Given the description of an element on the screen output the (x, y) to click on. 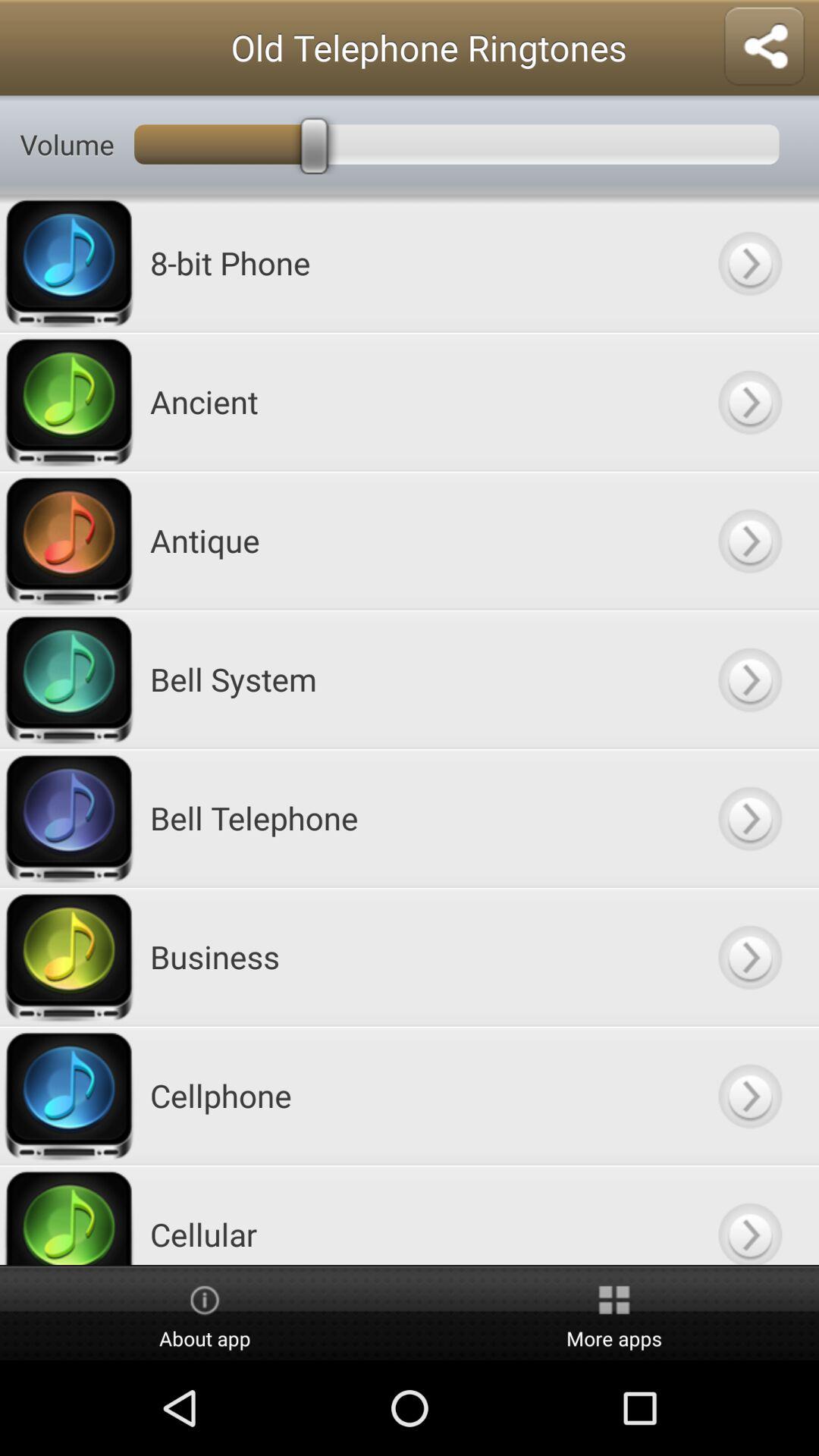
select ringtone (749, 818)
